Given the description of an element on the screen output the (x, y) to click on. 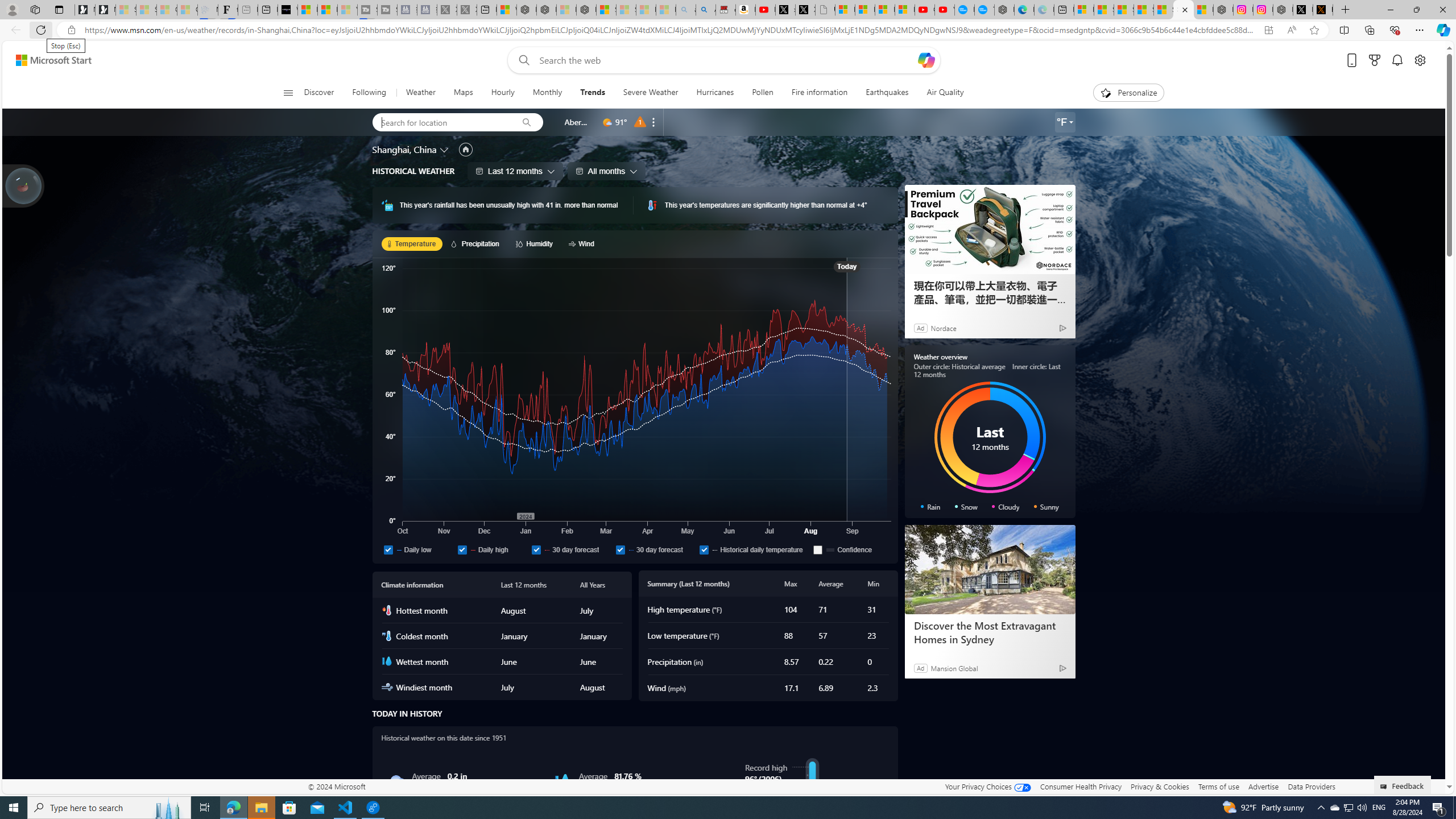
Weather (420, 92)
